Given the description of an element on the screen output the (x, y) to click on. 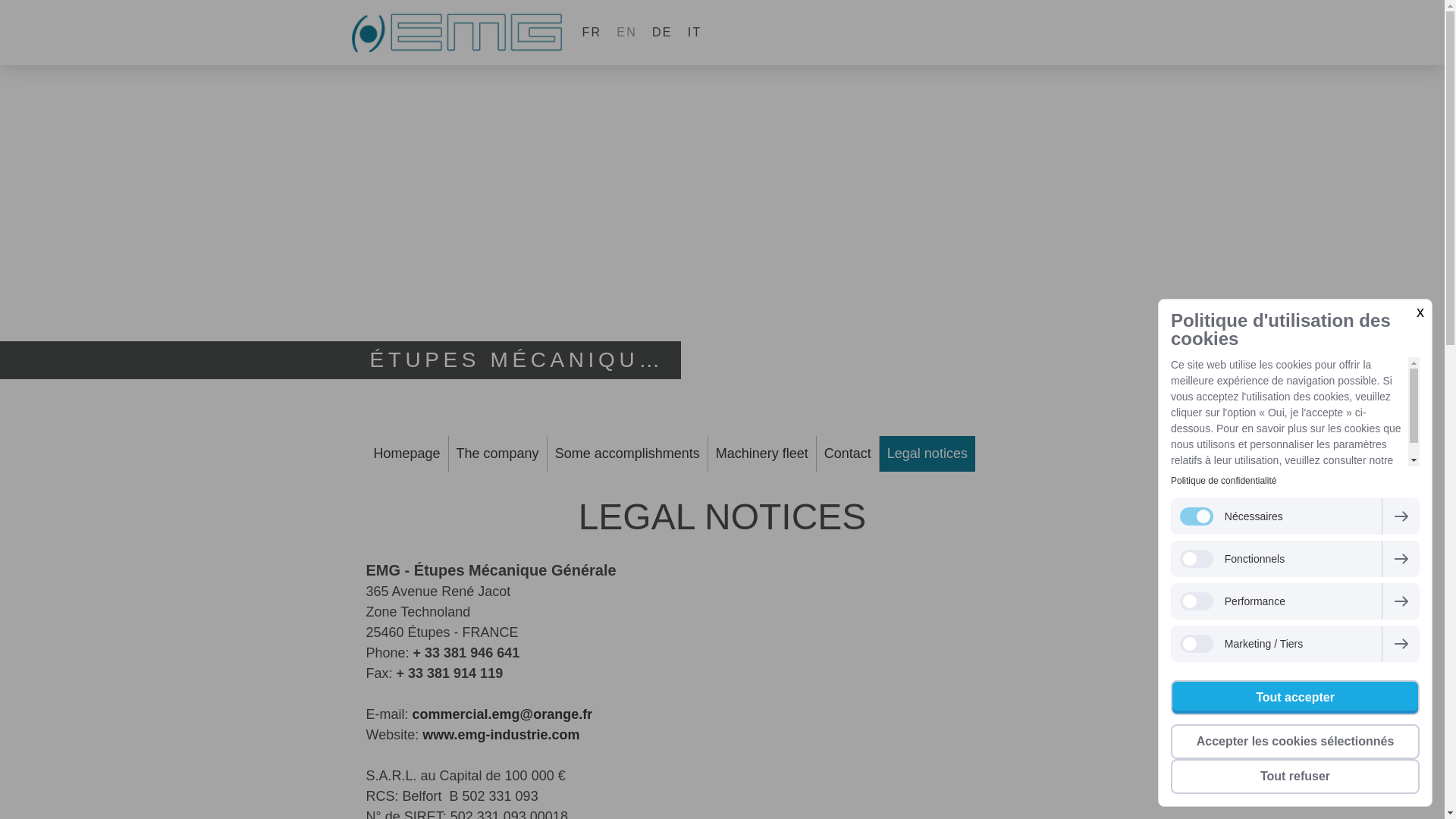
FR (592, 32)
Homepage (405, 453)
The company (497, 453)
EN (500, 734)
Contact (847, 453)
Some accomplishments (627, 453)
Legal notices (927, 453)
DE (662, 32)
EN (626, 32)
